Given the description of an element on the screen output the (x, y) to click on. 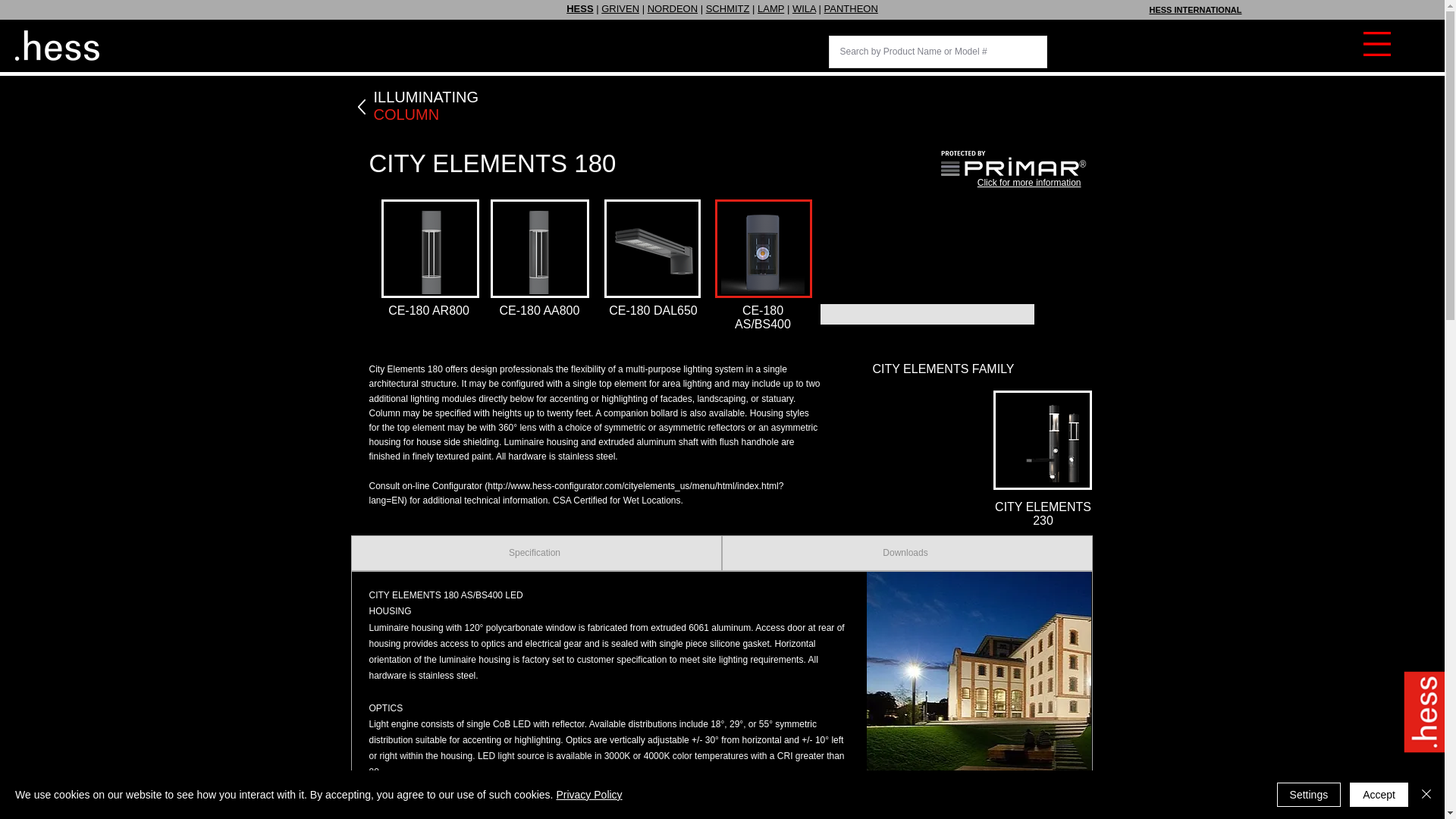
GRIVEN (620, 8)
LAMP (770, 8)
SCHMITZ (727, 8)
Click for more information (1028, 182)
HESS INTERNATIONAL (1194, 9)
HESS (579, 8)
PANTHEON (850, 8)
WILA (803, 8)
Downloads (907, 552)
NORDEON (672, 8)
Specification (535, 552)
